Given the description of an element on the screen output the (x, y) to click on. 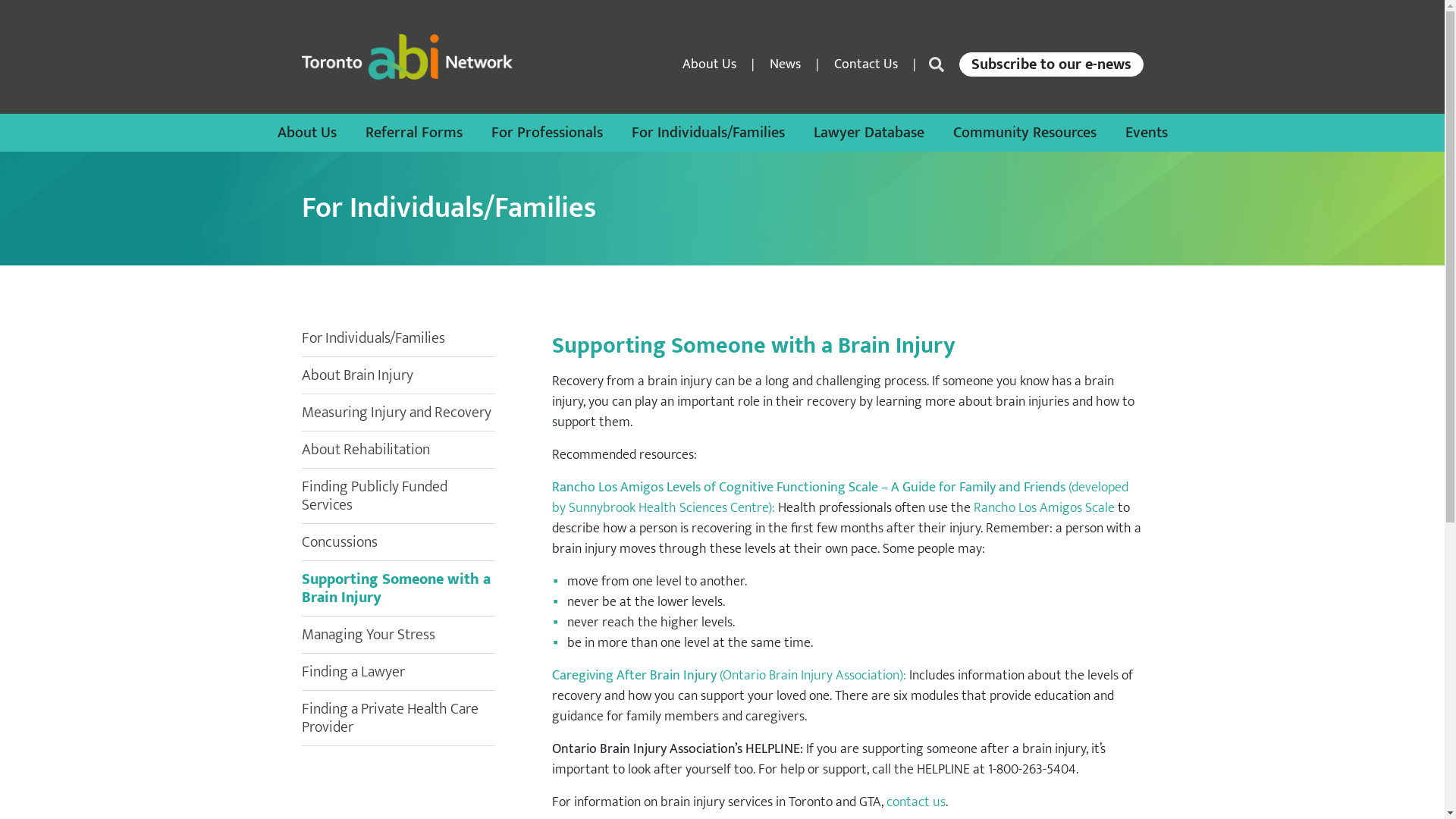
Managing Your Stress Element type: text (368, 634)
Referral Forms Element type: text (413, 132)
Finding a Lawyer Element type: text (352, 671)
For Individuals/Families Element type: text (373, 338)
Measuring Injury and Recovery Element type: text (396, 412)
Events Element type: text (1146, 132)
Rancho Los Amigos Scale Element type: text (1043, 507)
Concussions Element type: text (339, 542)
Subscribe to our e-news Element type: text (1050, 64)
About Rehabilitation Element type: text (365, 449)
About Brain Injury Element type: text (357, 375)
For Professionals Element type: text (546, 132)
Community Resources Element type: text (1023, 132)
Lawyer Database Element type: text (867, 132)
About Us Element type: text (306, 132)
Contact Us Element type: text (865, 64)
News Element type: text (784, 64)
Finding Publicly Funded Services Element type: text (374, 495)
Supporting Someone with a Brain Injury Element type: text (395, 588)
For Individuals/Families Element type: text (707, 132)
Finding a Private Health Care Provider Element type: text (389, 718)
About Us Element type: text (709, 64)
contact us Element type: text (914, 801)
